Given the description of an element on the screen output the (x, y) to click on. 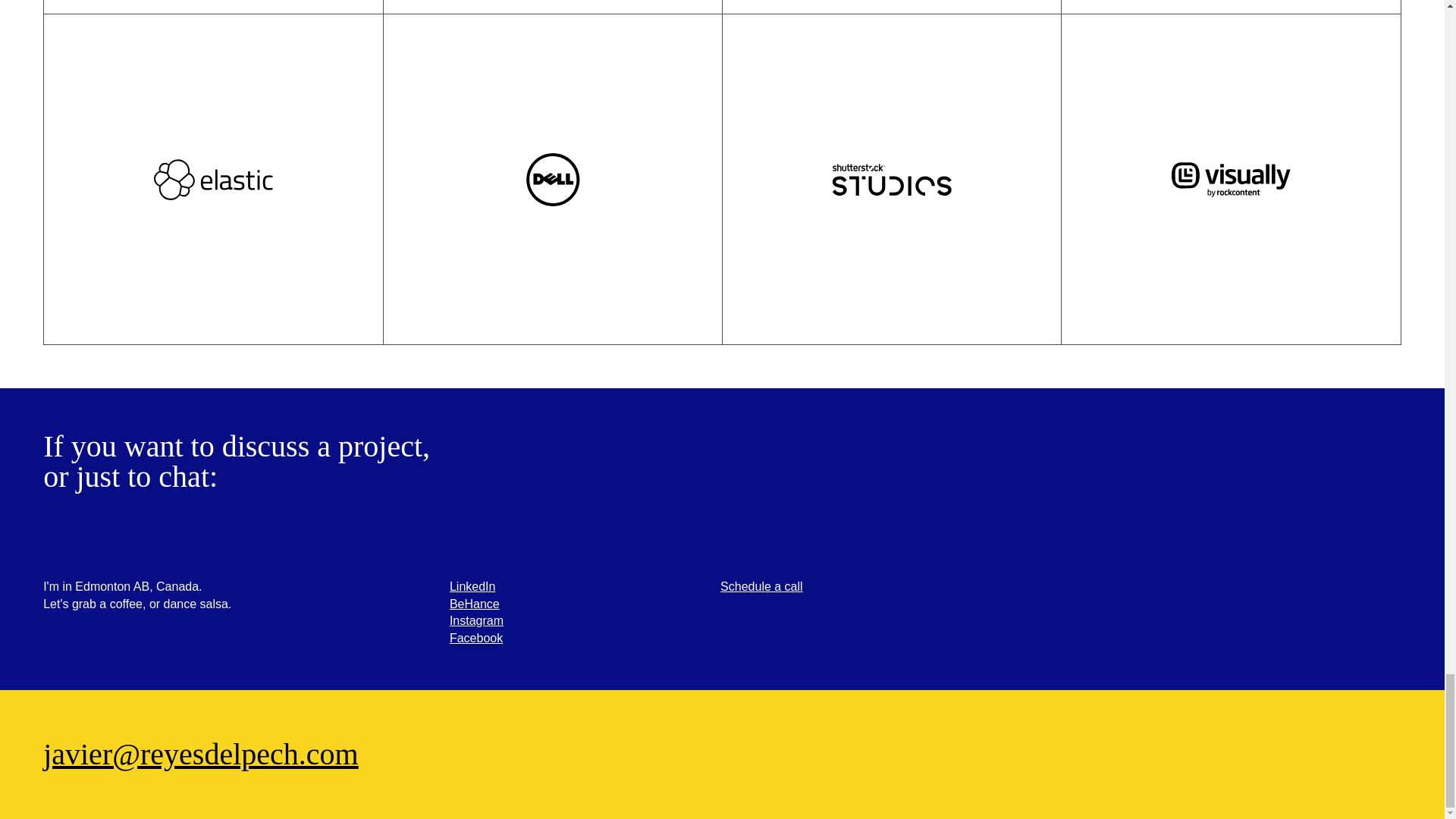
Schedule a call (761, 585)
LinkedIn (472, 585)
Instagram (476, 620)
Facebook (475, 637)
BeHance (474, 603)
